Given the description of an element on the screen output the (x, y) to click on. 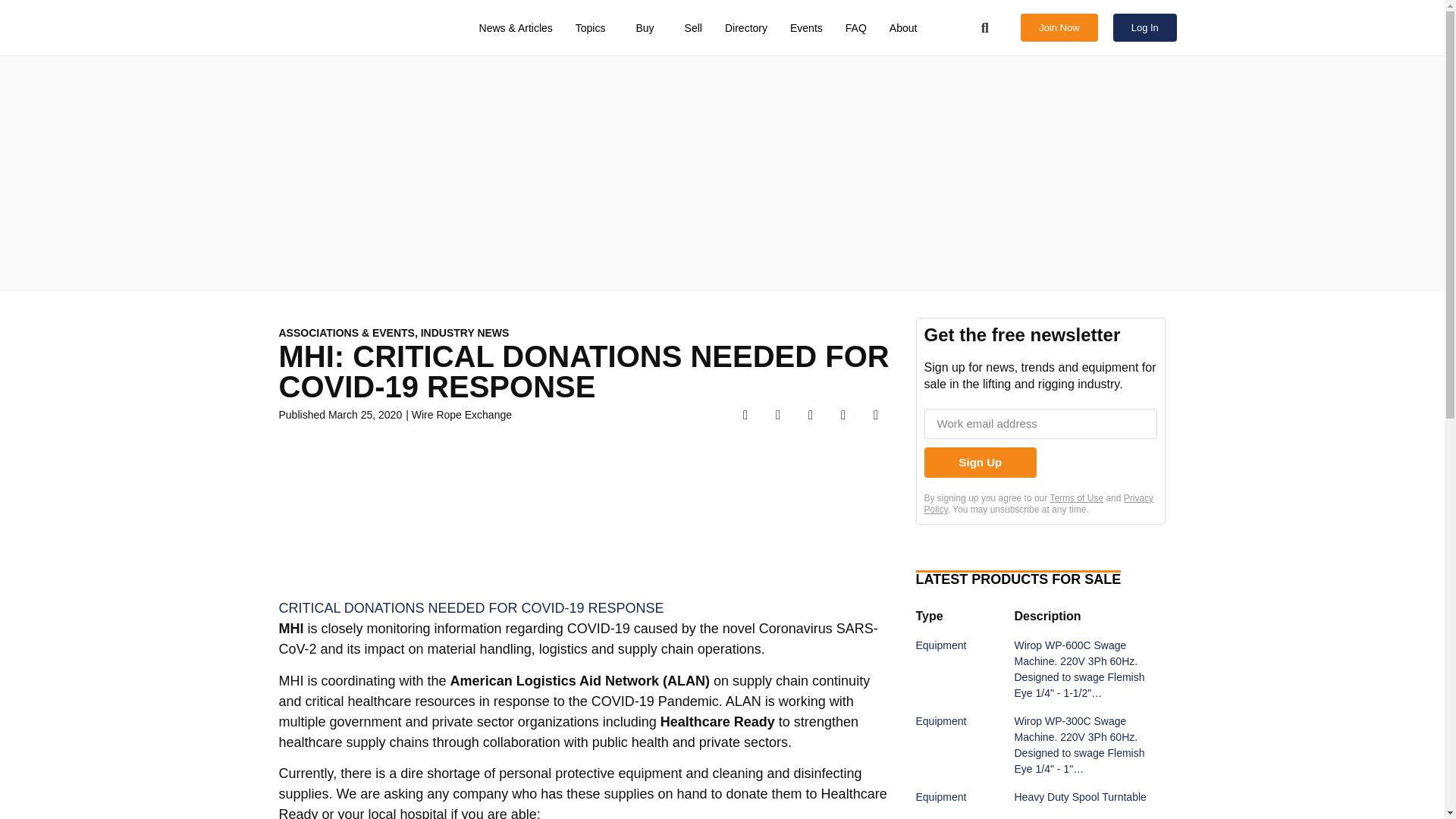
Buy (648, 27)
Topics (594, 27)
logo (342, 27)
